Given the description of an element on the screen output the (x, y) to click on. 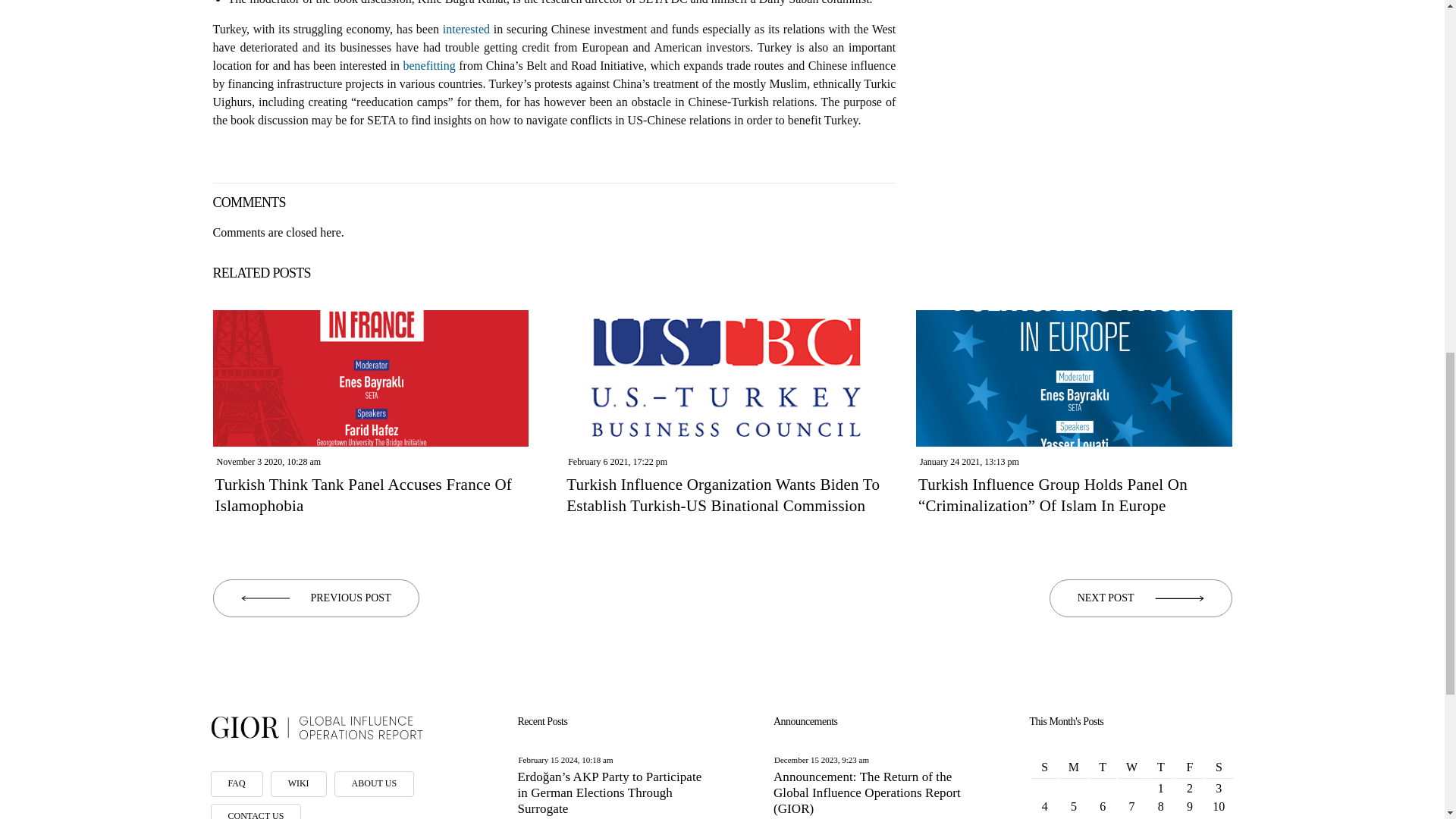
Friday (1190, 767)
Tuesday (1102, 767)
Saturday (1218, 767)
Thursday (1160, 767)
Sunday (1044, 767)
Monday (1073, 767)
Wednesday (1131, 767)
